Given the description of an element on the screen output the (x, y) to click on. 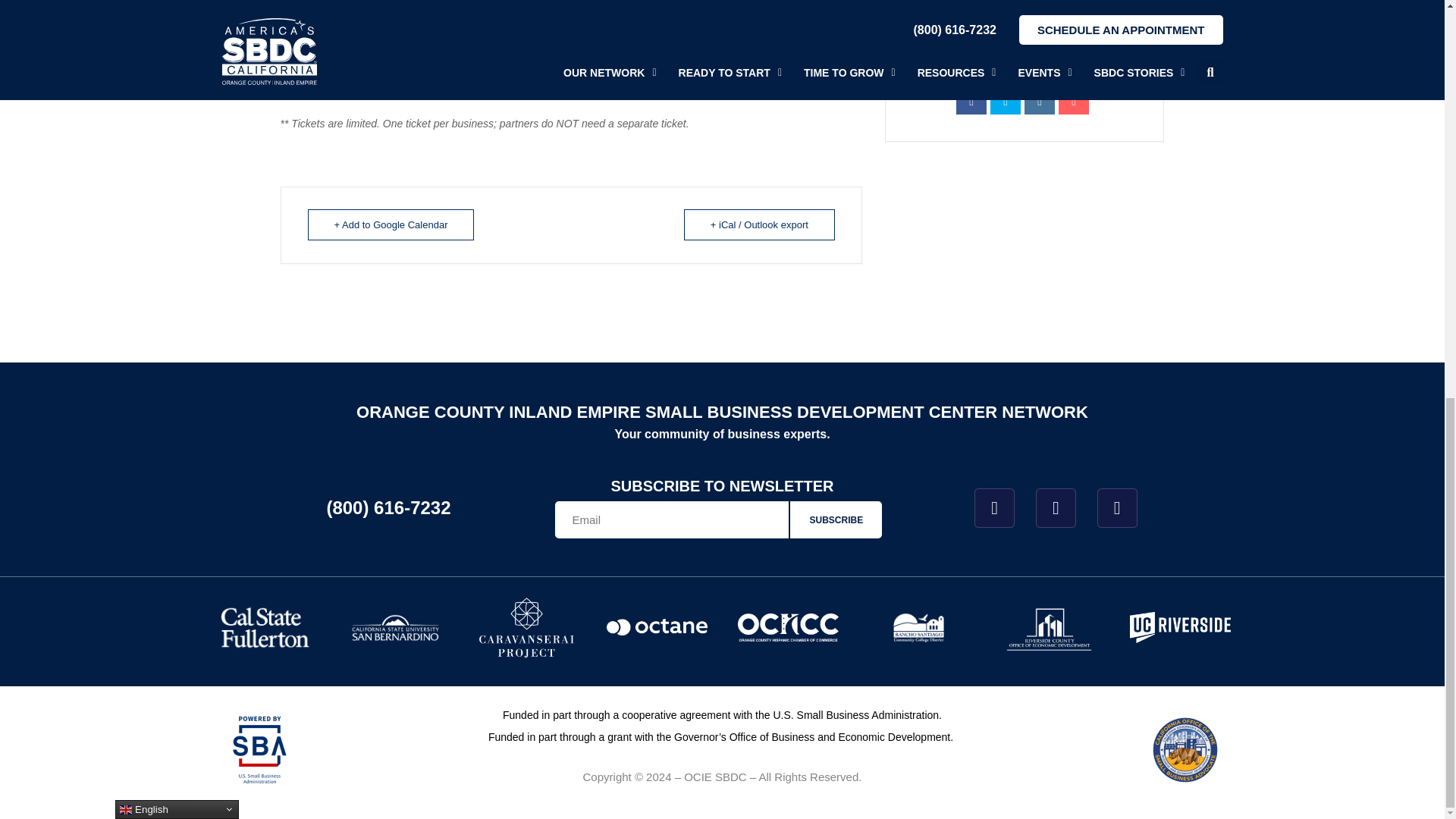
Linkedin (1039, 99)
Tweet (1005, 99)
Email (1073, 99)
Share on Facebook (971, 99)
